Given the description of an element on the screen output the (x, y) to click on. 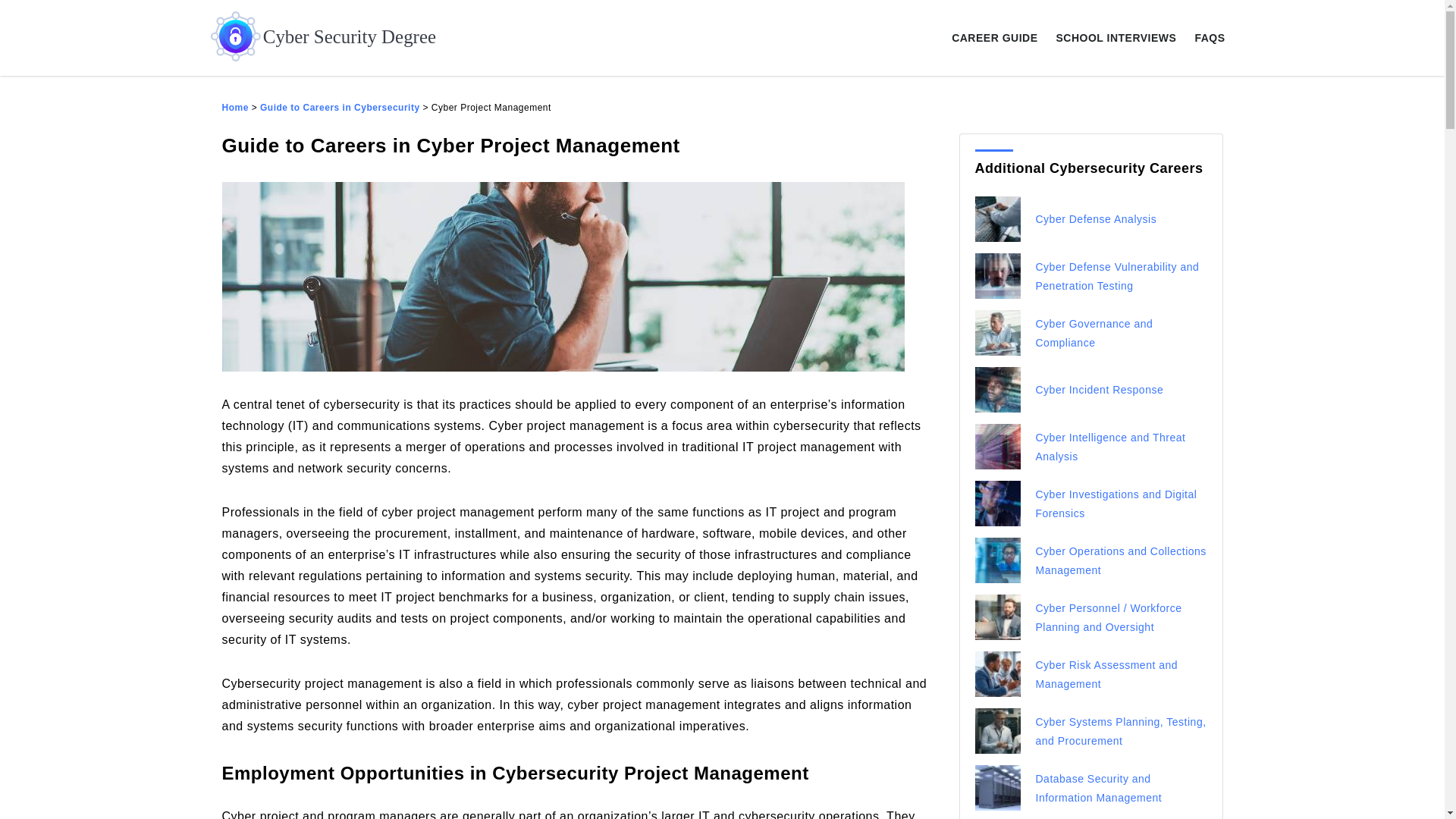
Cyber Systems Planning, Testing, and Procurement (1121, 730)
SCHOOL INTERVIEWS (1115, 37)
CAREER GUIDE (994, 37)
Cyber Defense Vulnerability and Penetration Testing (1117, 276)
Cyber Intelligence and Threat Analysis (1110, 446)
FAQS (1208, 37)
Go to Guide to Careers in Cybersecurity. (340, 107)
Graduate Certificates (329, 37)
Cyber Risk Assessment and Management (1106, 674)
CyberSecurityDegree.com (234, 107)
Guide to Careers in Cybersecurity (340, 107)
Cyber Governance and Compliance (1094, 332)
Cyber Incident Response (1099, 389)
Home (234, 107)
Cyber Operations and Collections Management (1121, 560)
